Given the description of an element on the screen output the (x, y) to click on. 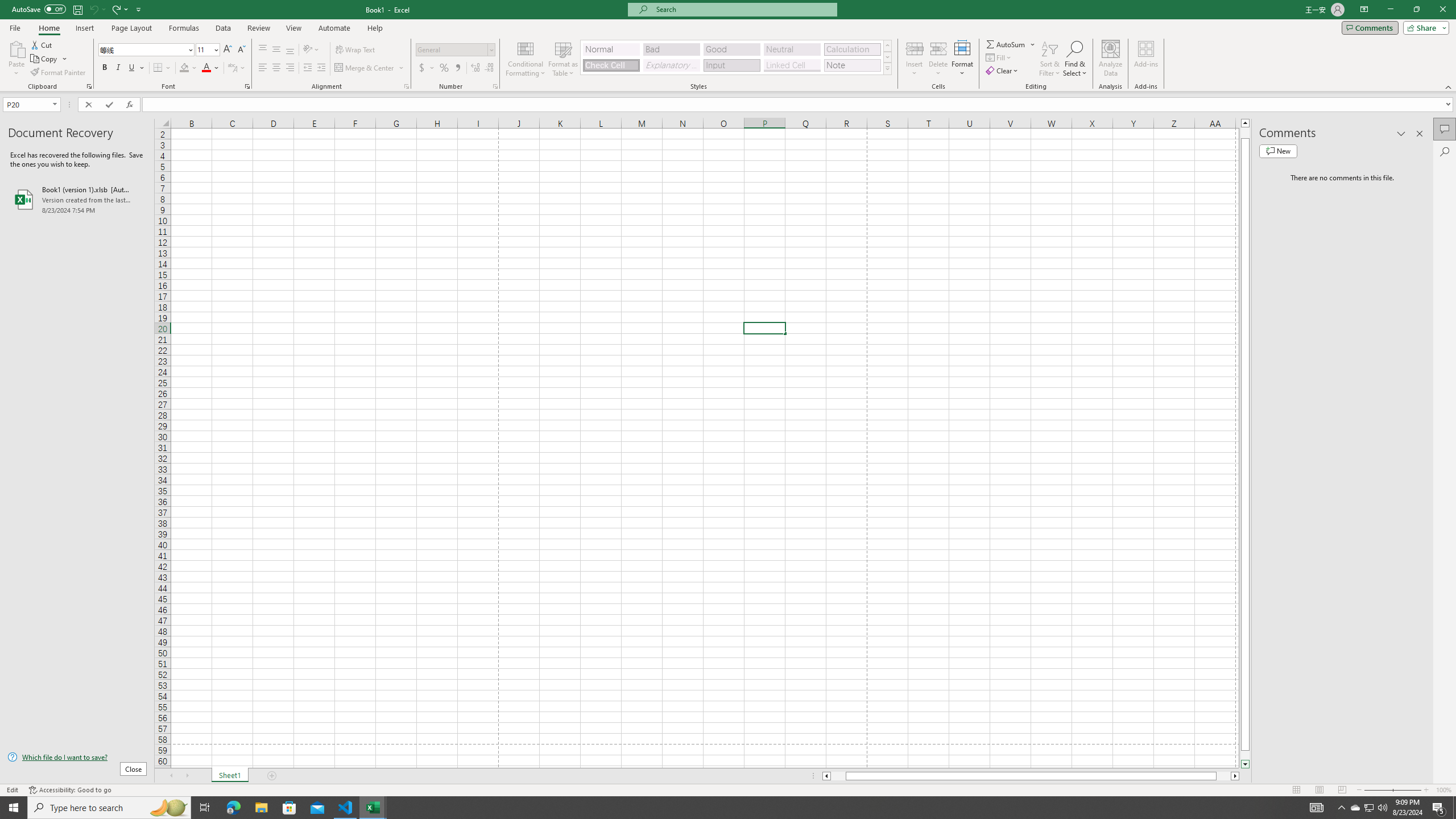
Good (731, 49)
Check Cell (611, 65)
Font Color (210, 67)
Bottom Align (290, 49)
Neutral (791, 49)
Bottom Border (157, 67)
Format Cell Alignment (405, 85)
Align Left (262, 67)
